Given the description of an element on the screen output the (x, y) to click on. 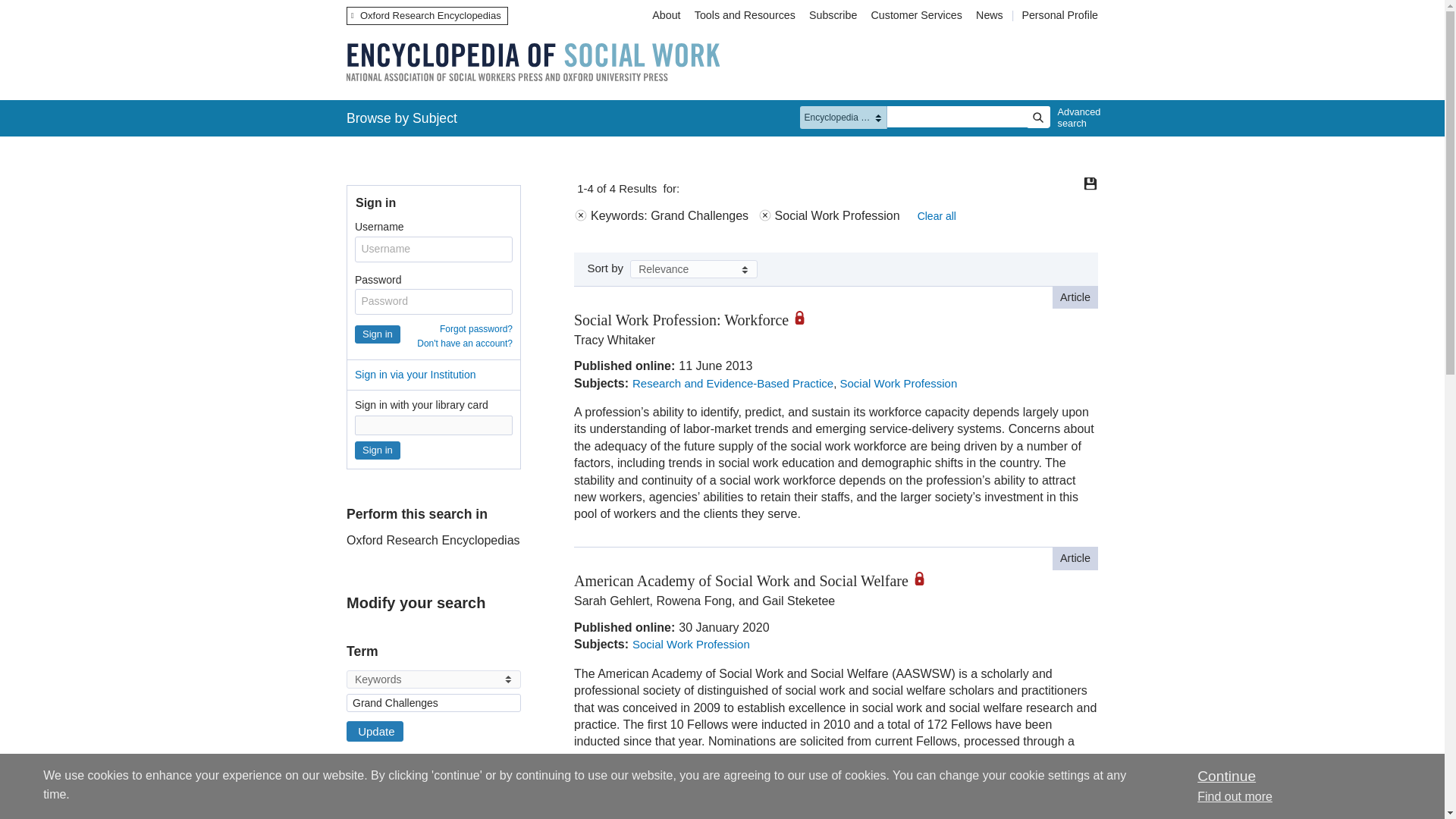
Oxford Research Encyclopedias (427, 15)
Find out more (1234, 796)
Close this message (1225, 775)
How we use cookies on this site (1234, 796)
News (991, 15)
Encyclopedia of Social Work (532, 62)
Search (1037, 117)
Save (1090, 183)
Sign in (377, 450)
 Update (374, 731)
restricted access (805, 317)
Forgot password? (475, 328)
Browse by Subject (401, 117)
Continue (1225, 775)
Subscribe (832, 15)
